Given the description of an element on the screen output the (x, y) to click on. 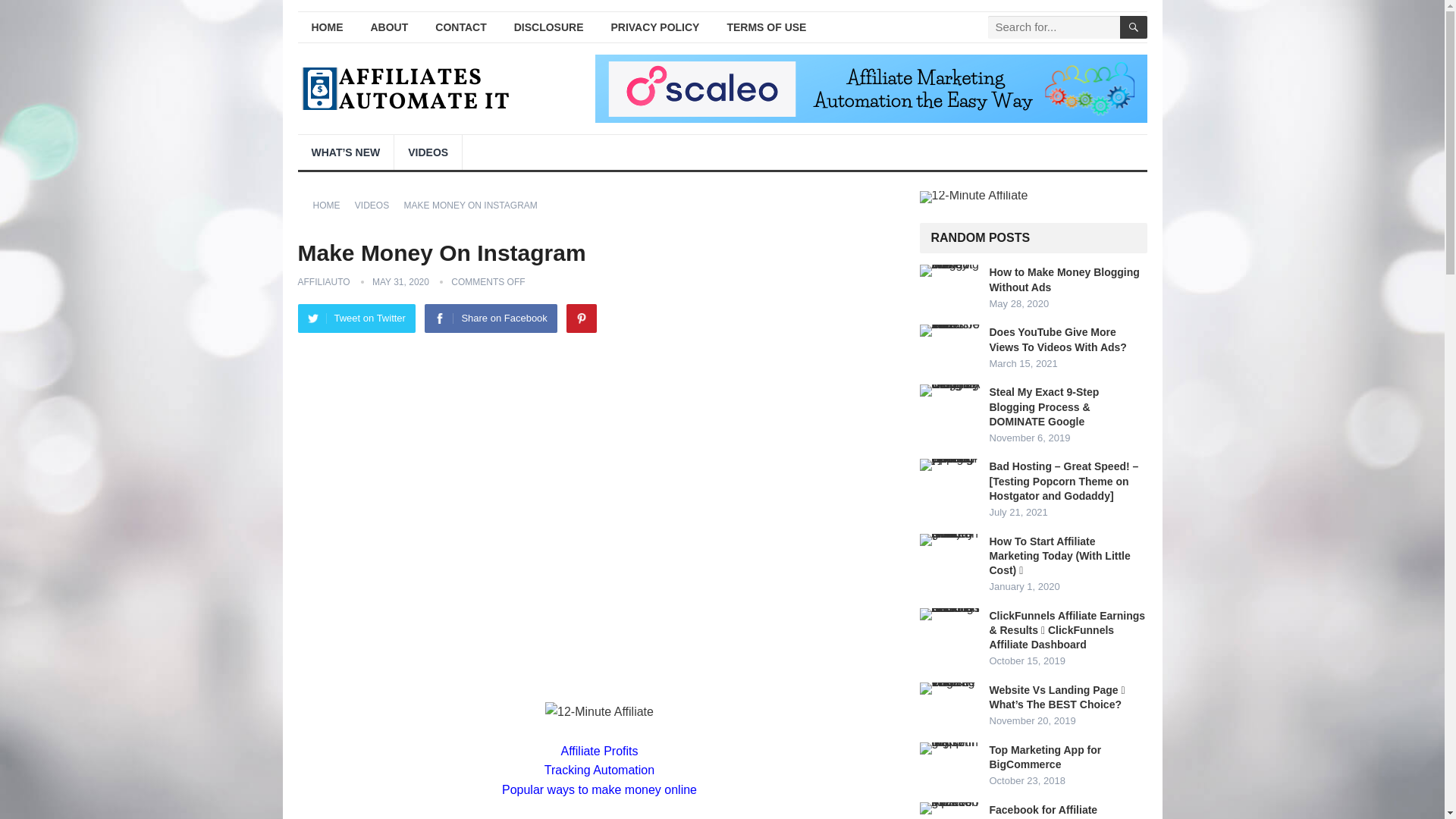
Tracking Automation (598, 769)
CONTACT (460, 27)
VIDEOS (376, 204)
ABOUT (389, 27)
TERMS OF USE (766, 27)
PRIVACY POLICY (654, 27)
DISCLOSURE (548, 27)
AFFILIAUTO (323, 281)
Posts by affiliauto (323, 281)
Tweet on Twitter (355, 317)
HOME (326, 27)
Does YouTube Give More Views To Videos With Ads? 14 (948, 330)
VIDEOS (427, 152)
HOME (331, 204)
